Given the description of an element on the screen output the (x, y) to click on. 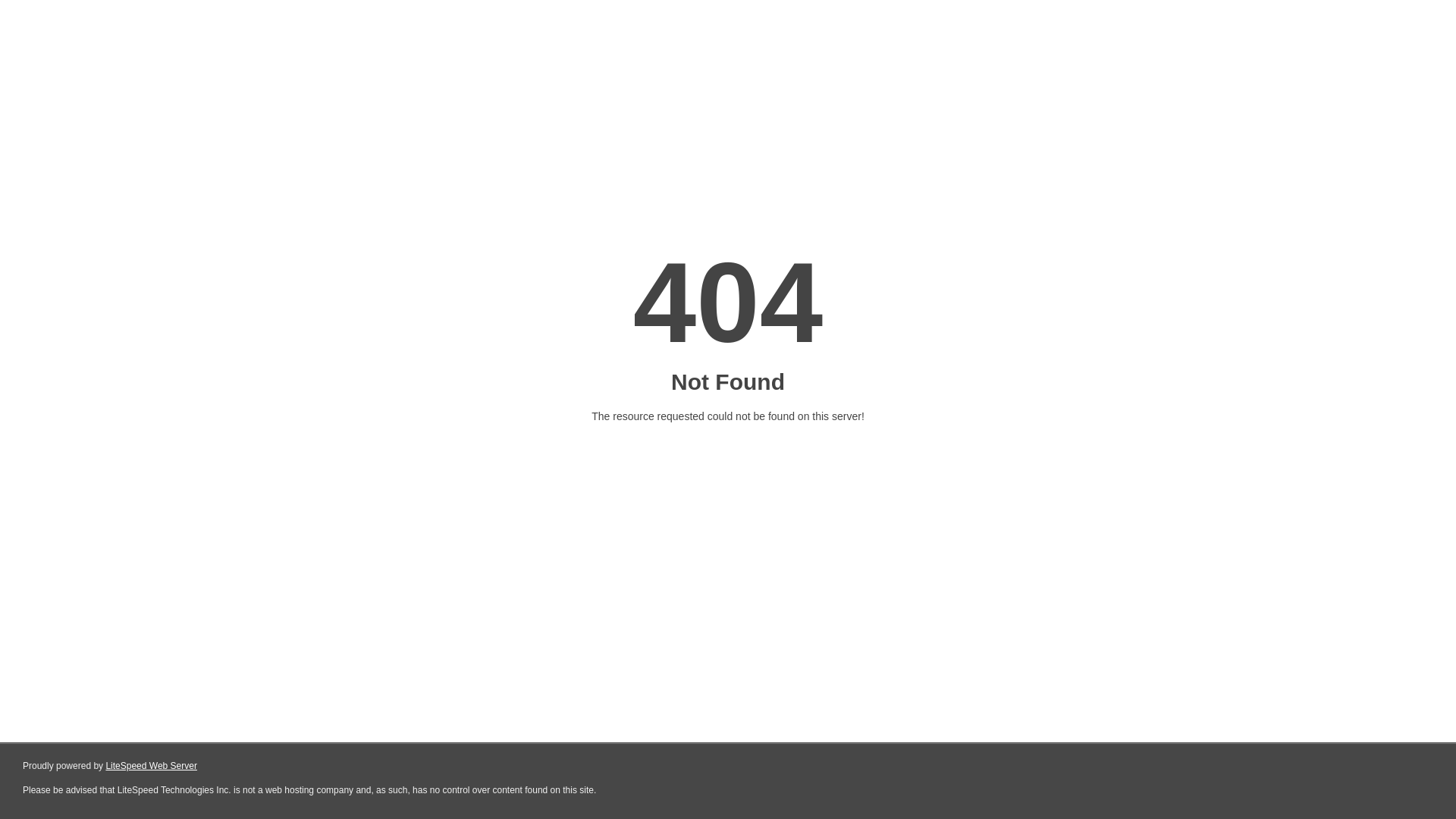
LiteSpeed Web Server Element type: text (151, 765)
